Given the description of an element on the screen output the (x, y) to click on. 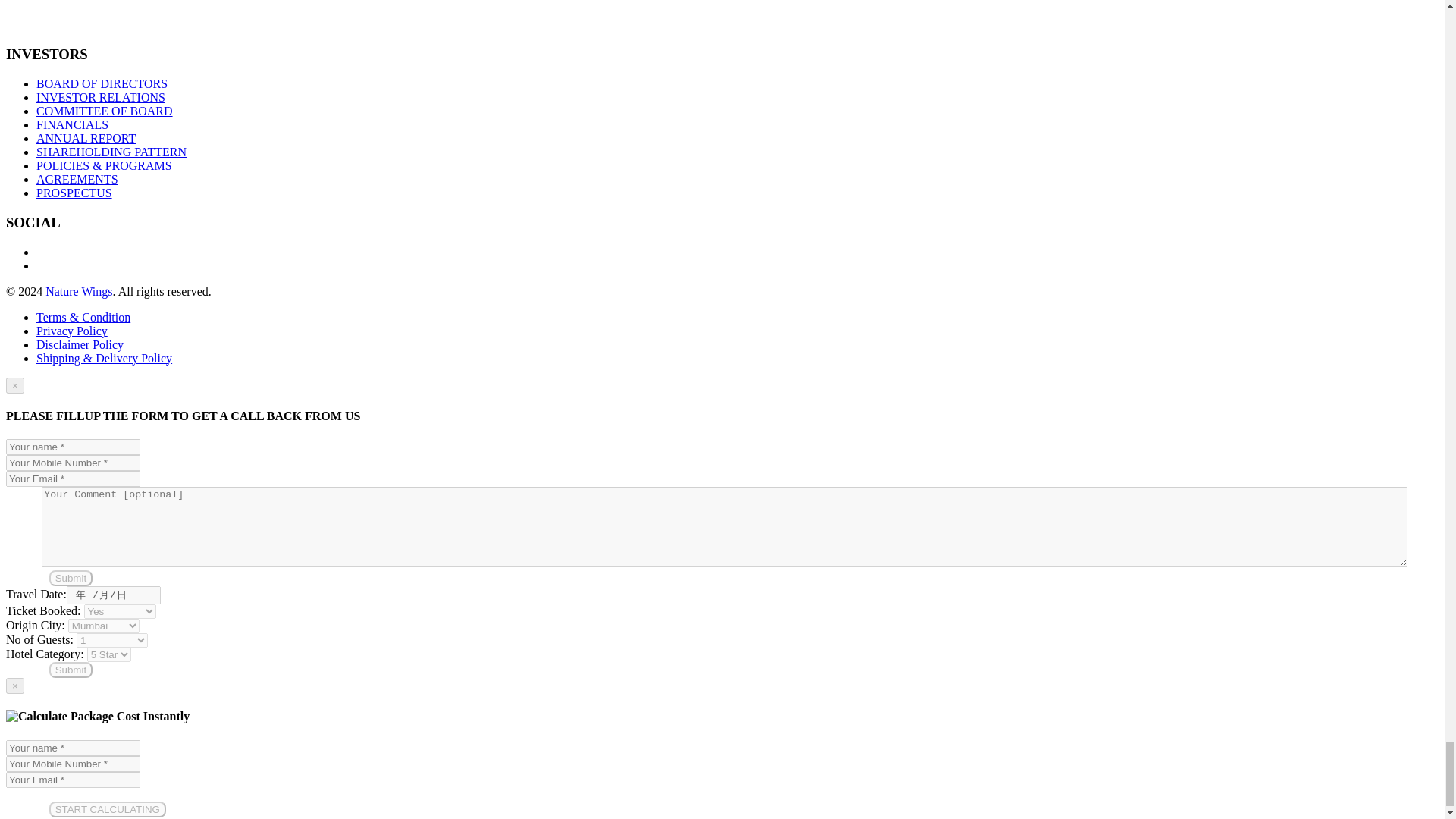
Submit (71, 578)
Submit (71, 669)
START CALCULATING (107, 809)
